Given the description of an element on the screen output the (x, y) to click on. 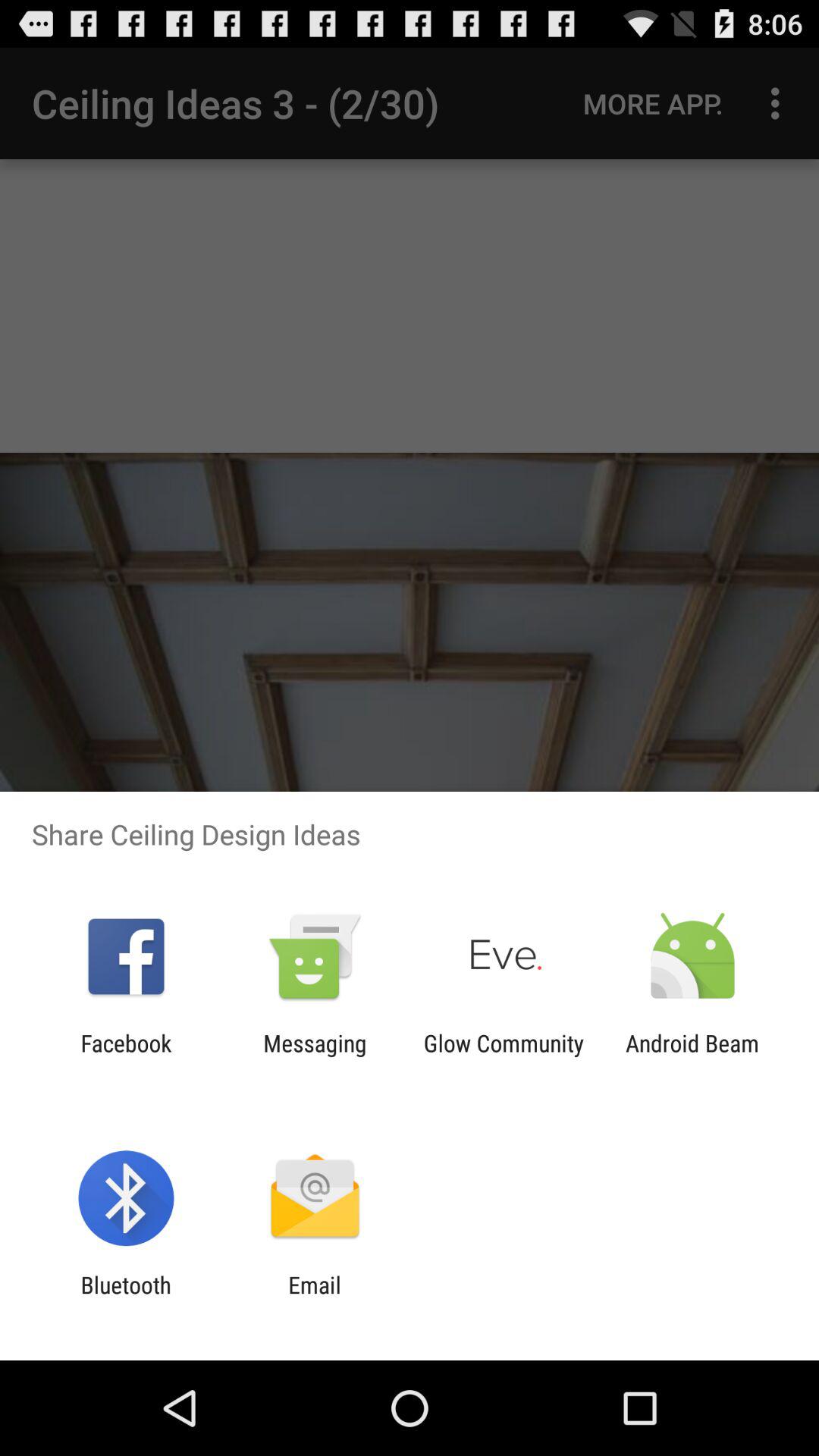
click app to the left of the email (125, 1298)
